Given the description of an element on the screen output the (x, y) to click on. 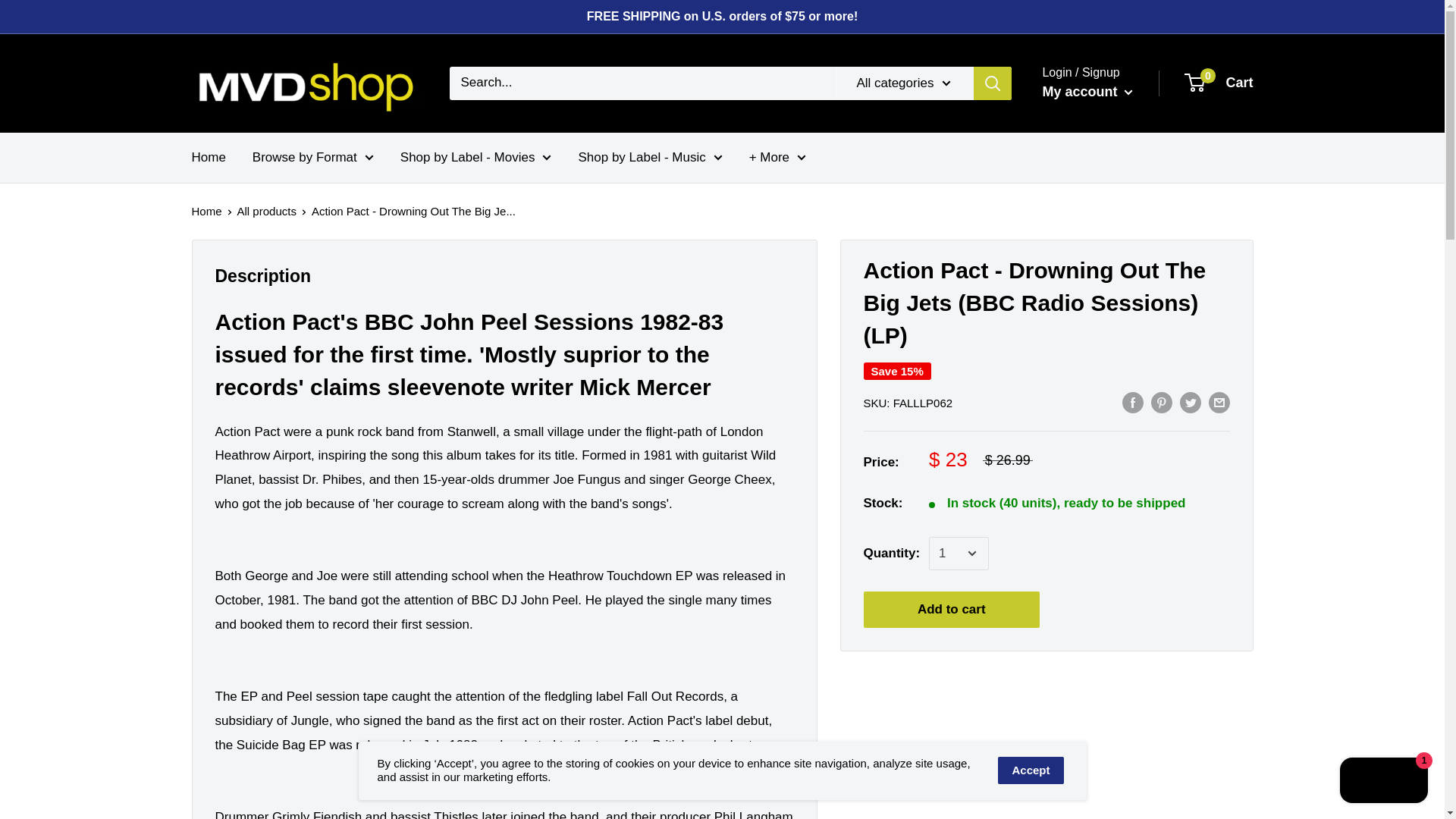
Shopify online store chat (1383, 781)
